Given the description of an element on the screen output the (x, y) to click on. 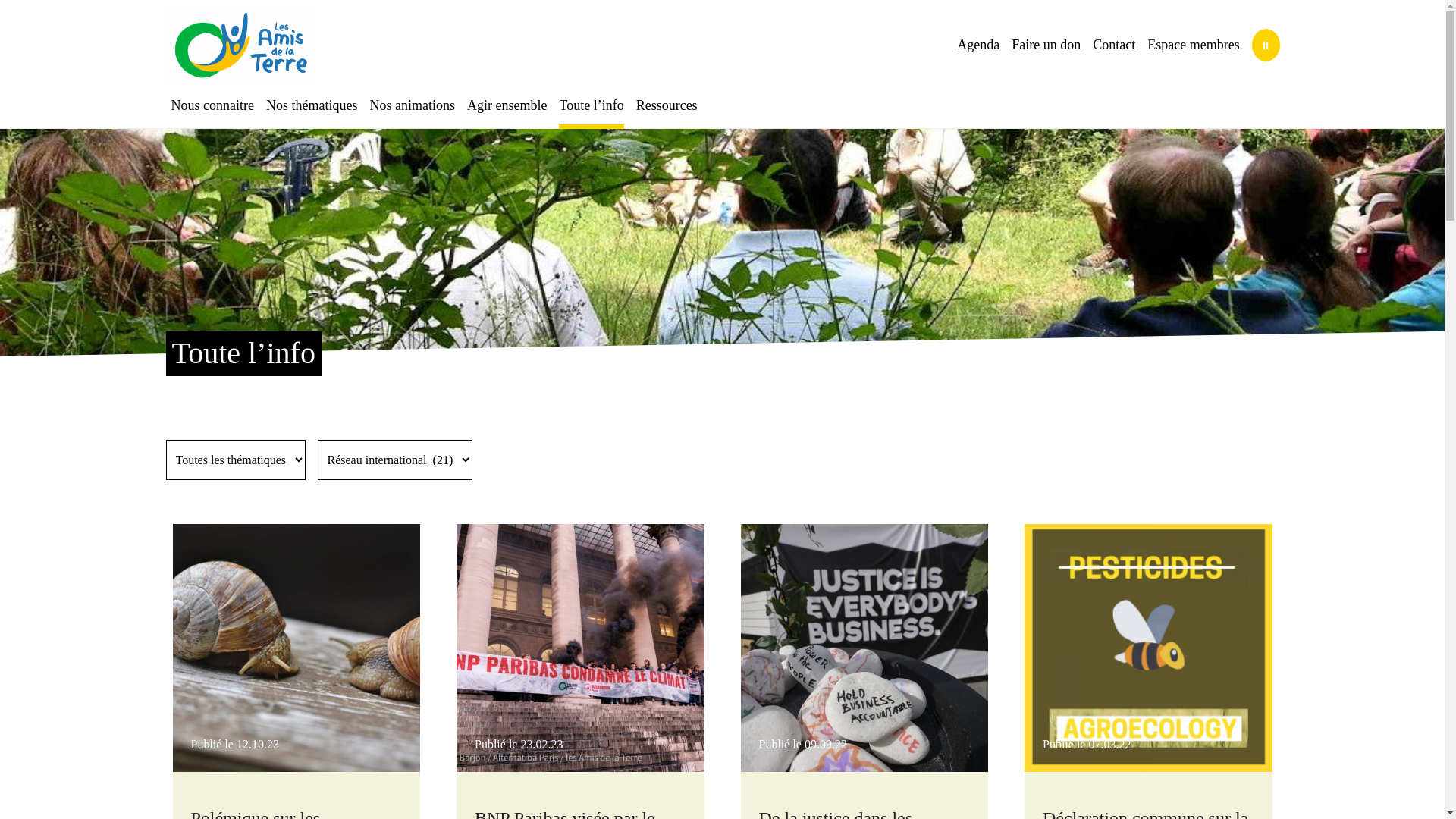
Faire un don Element type: text (1045, 44)
Nous connaitre Element type: text (212, 105)
Contact Element type: text (1113, 44)
Agenda Element type: text (977, 44)
Espace membres Element type: text (1193, 44)
Ressources Element type: text (666, 105)
Agir ensemble Element type: text (506, 105)
Nos animations Element type: text (412, 105)
